Given the description of an element on the screen output the (x, y) to click on. 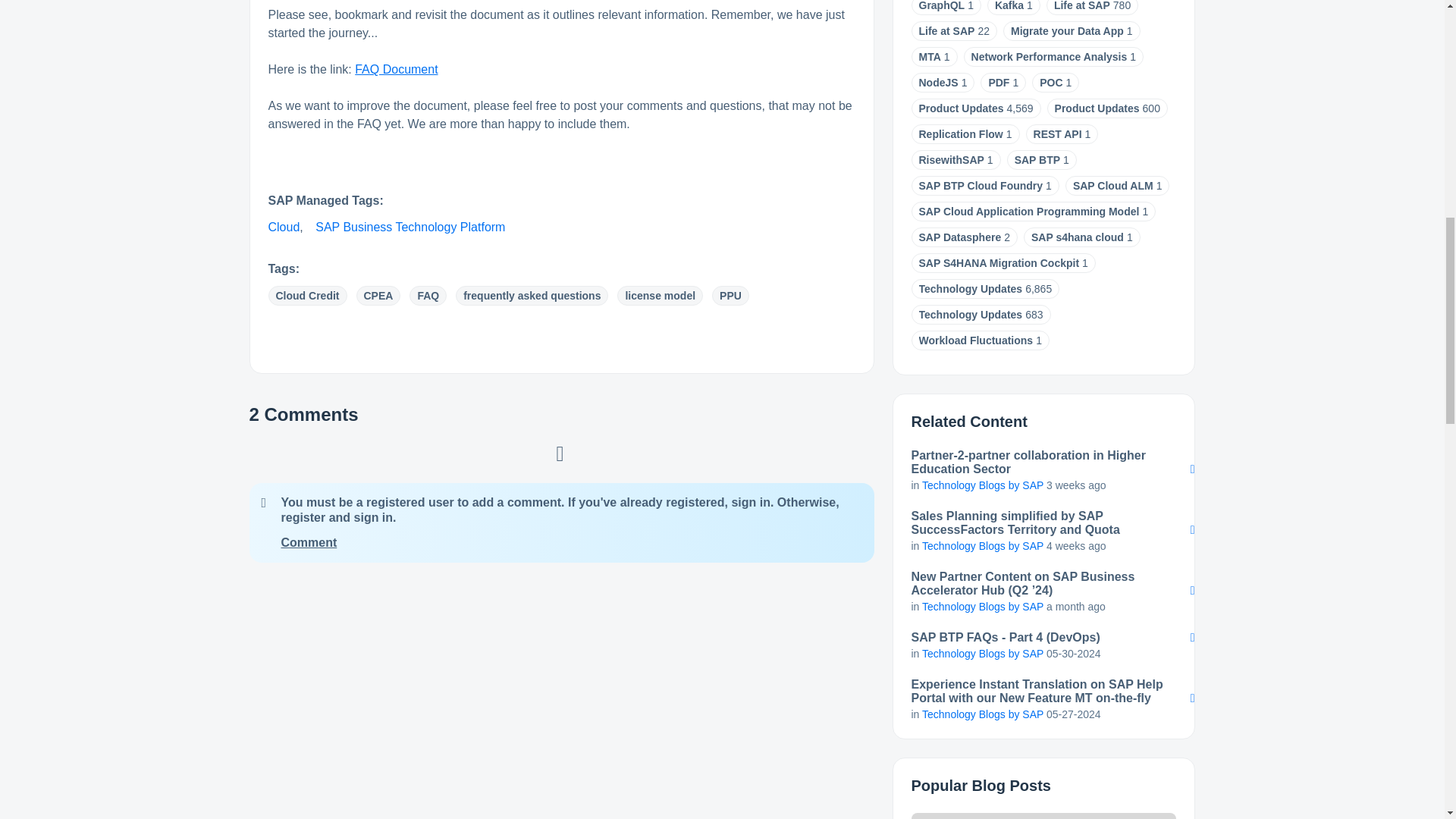
Comment (308, 542)
license model (660, 295)
Cloud (283, 226)
FAQ (427, 295)
CPEA (378, 295)
FAQ Document (396, 69)
frequently asked questions (531, 295)
Cloud Credit (307, 295)
SAP Business Technology Platform (410, 226)
PPU (730, 295)
